Given the description of an element on the screen output the (x, y) to click on. 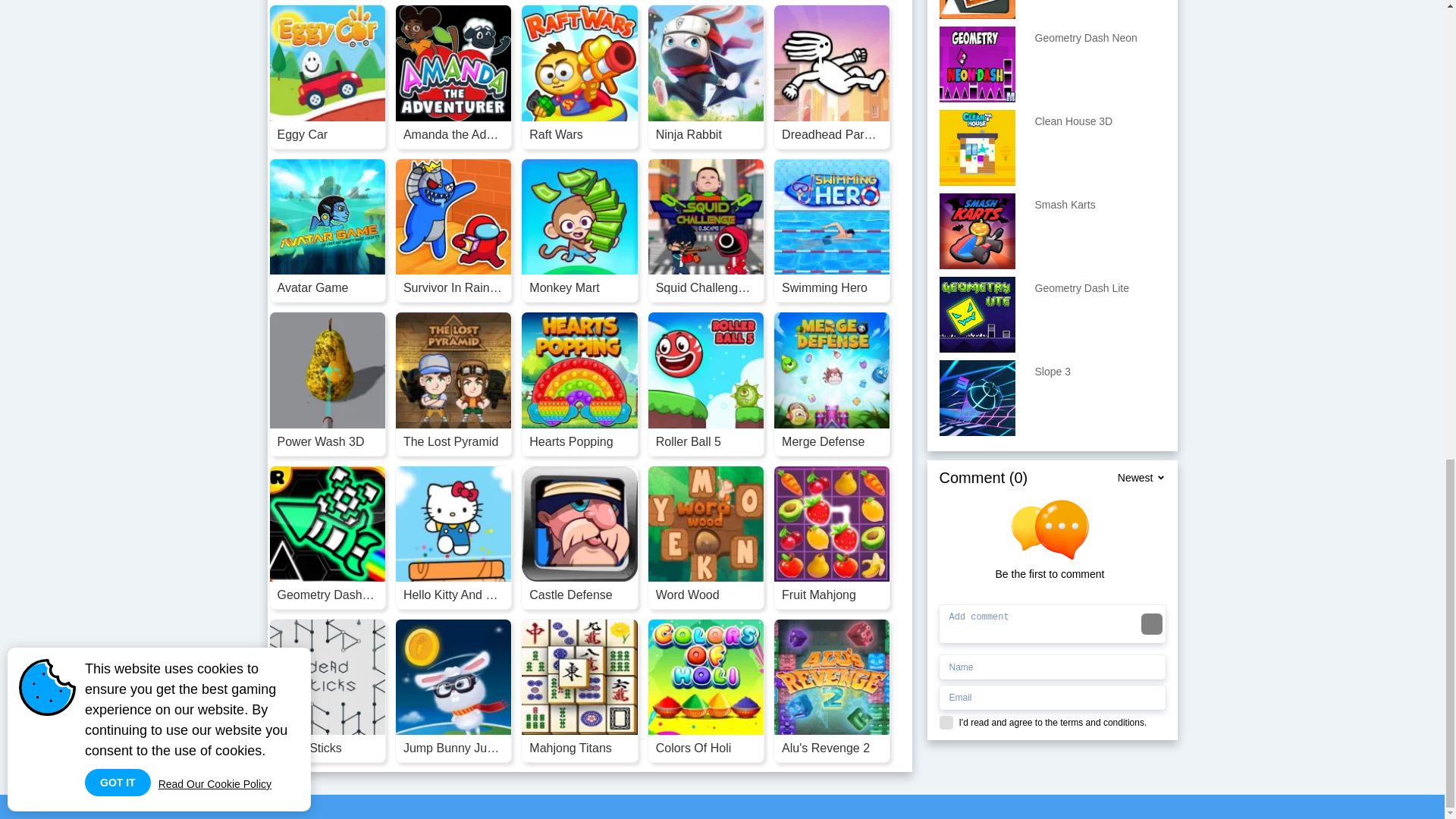
Be the first to comment (1055, 540)
